Given the description of an element on the screen output the (x, y) to click on. 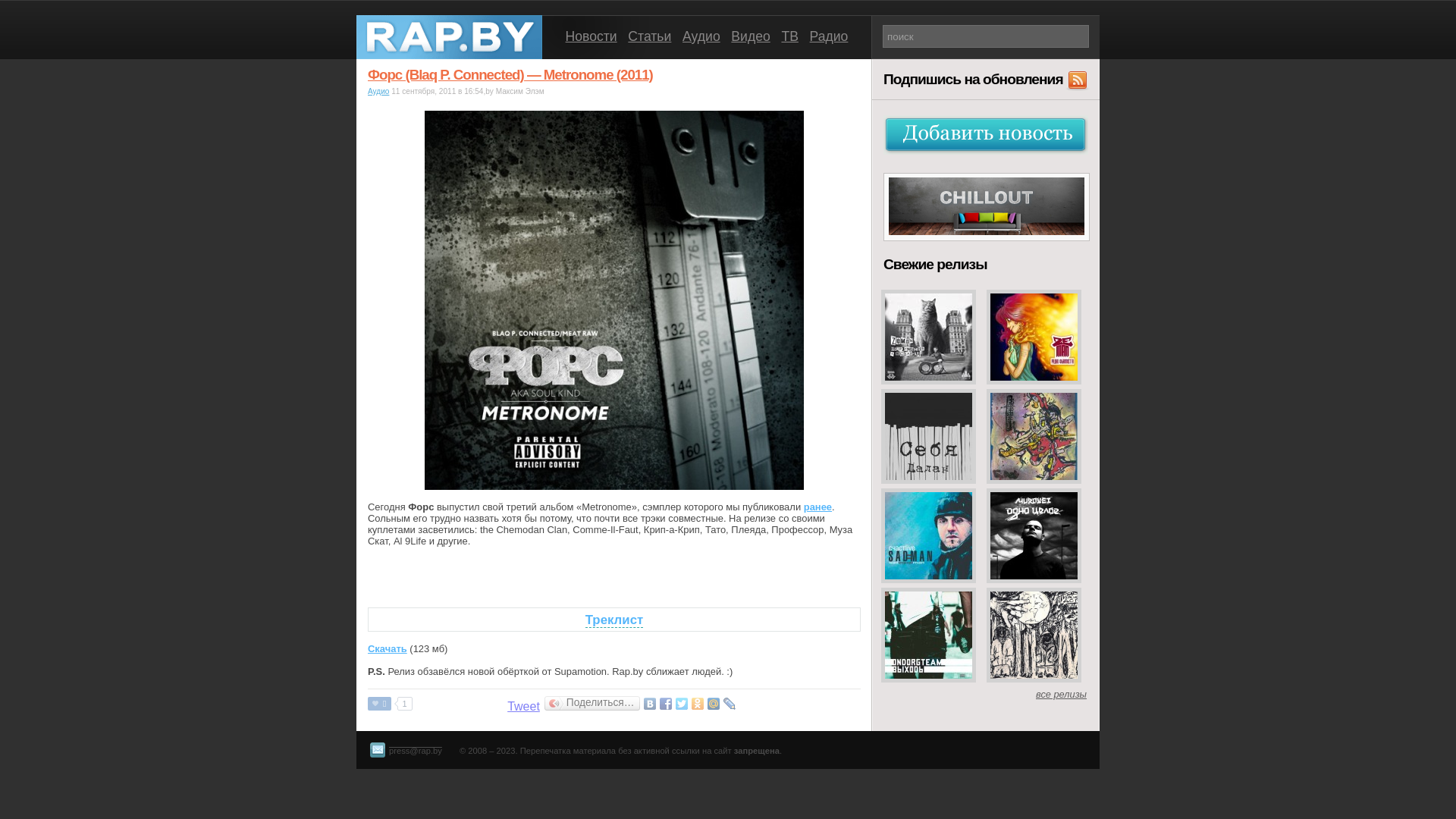
Twitter Element type: hover (682, 703)
LiveJournal Element type: hover (729, 703)
Facebook Element type: hover (666, 703)
Rap.by Chillout Element type: hover (986, 232)
Tweet Element type: text (523, 705)
press@rap.by Element type: text (404, 742)
